Given the description of an element on the screen output the (x, y) to click on. 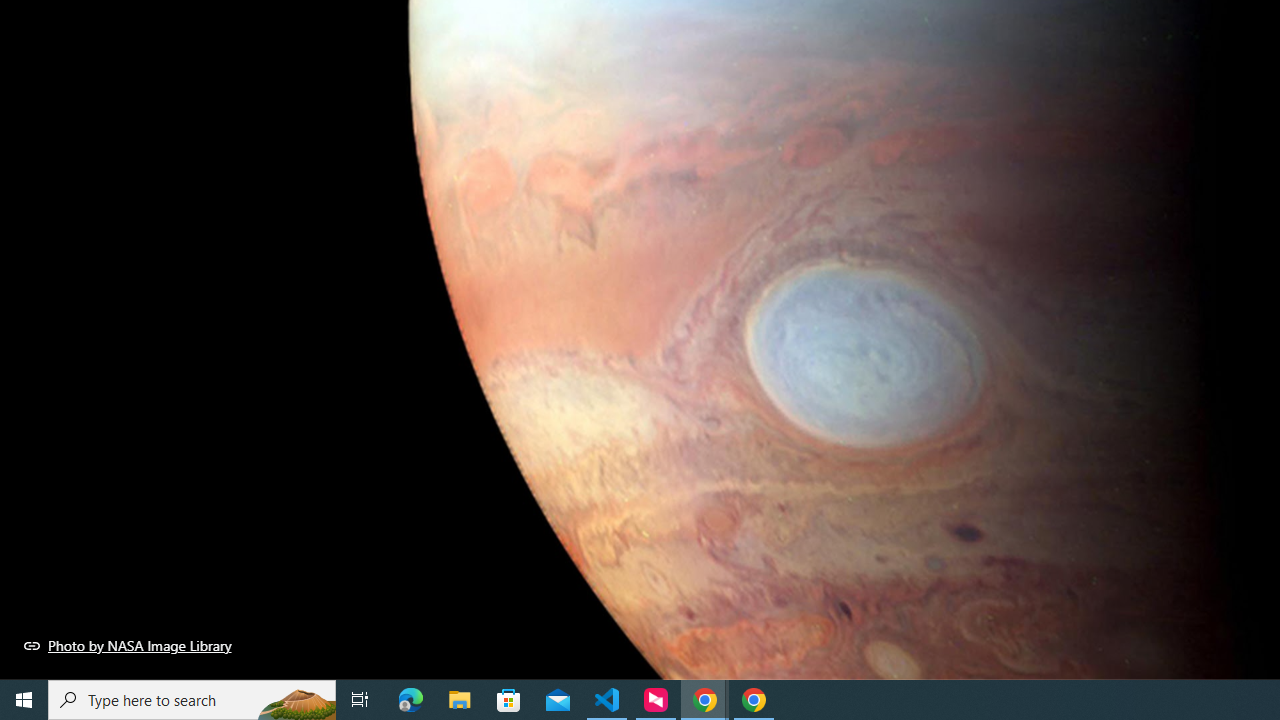
Photo by NASA Image Library (127, 645)
